Given the description of an element on the screen output the (x, y) to click on. 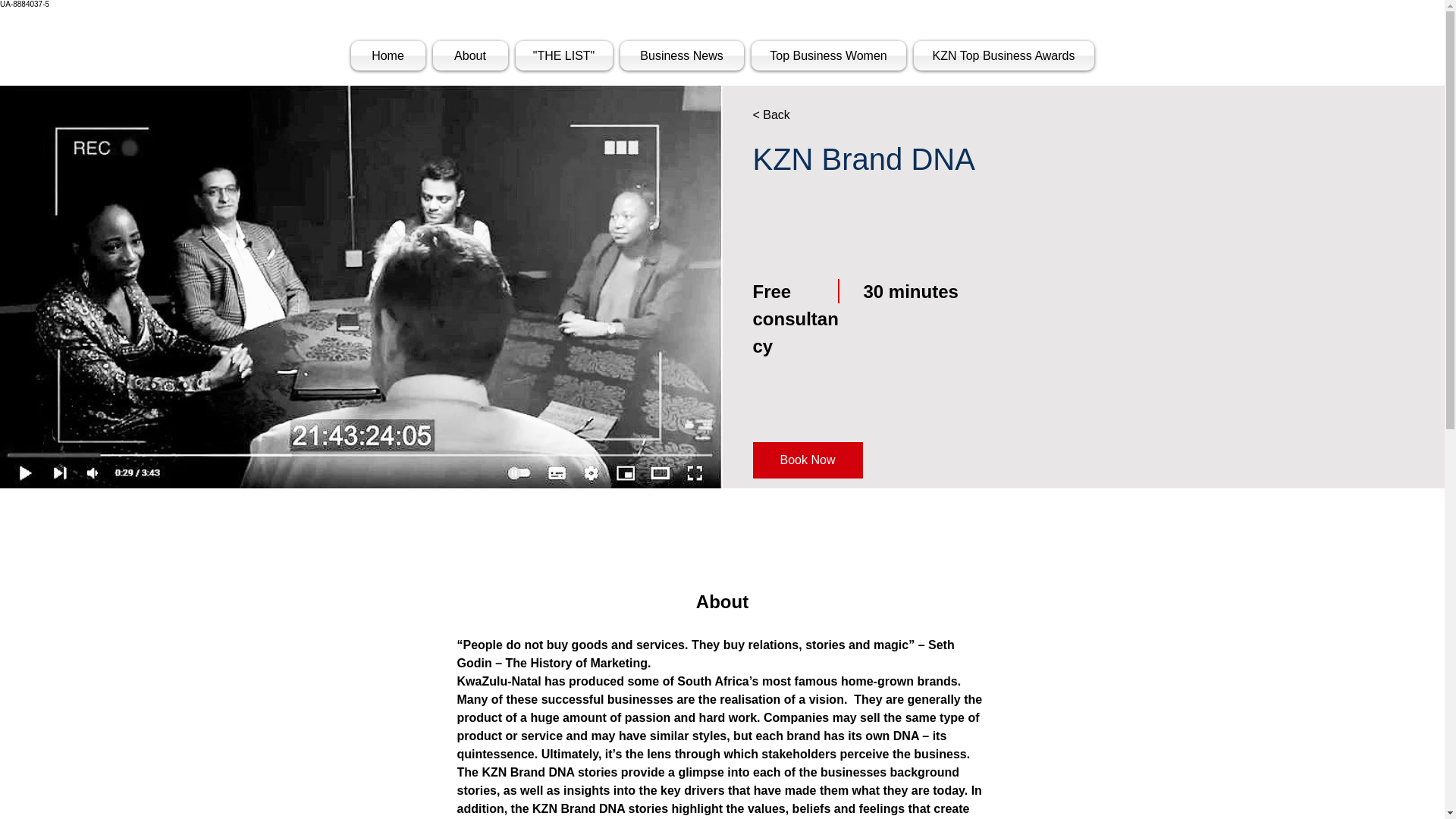
Home (389, 55)
Top Business Women (829, 55)
"THE LIST" (563, 55)
About (470, 55)
Business News (680, 55)
KZN Top Business Awards (1002, 55)
Book Now (806, 460)
